Given the description of an element on the screen output the (x, y) to click on. 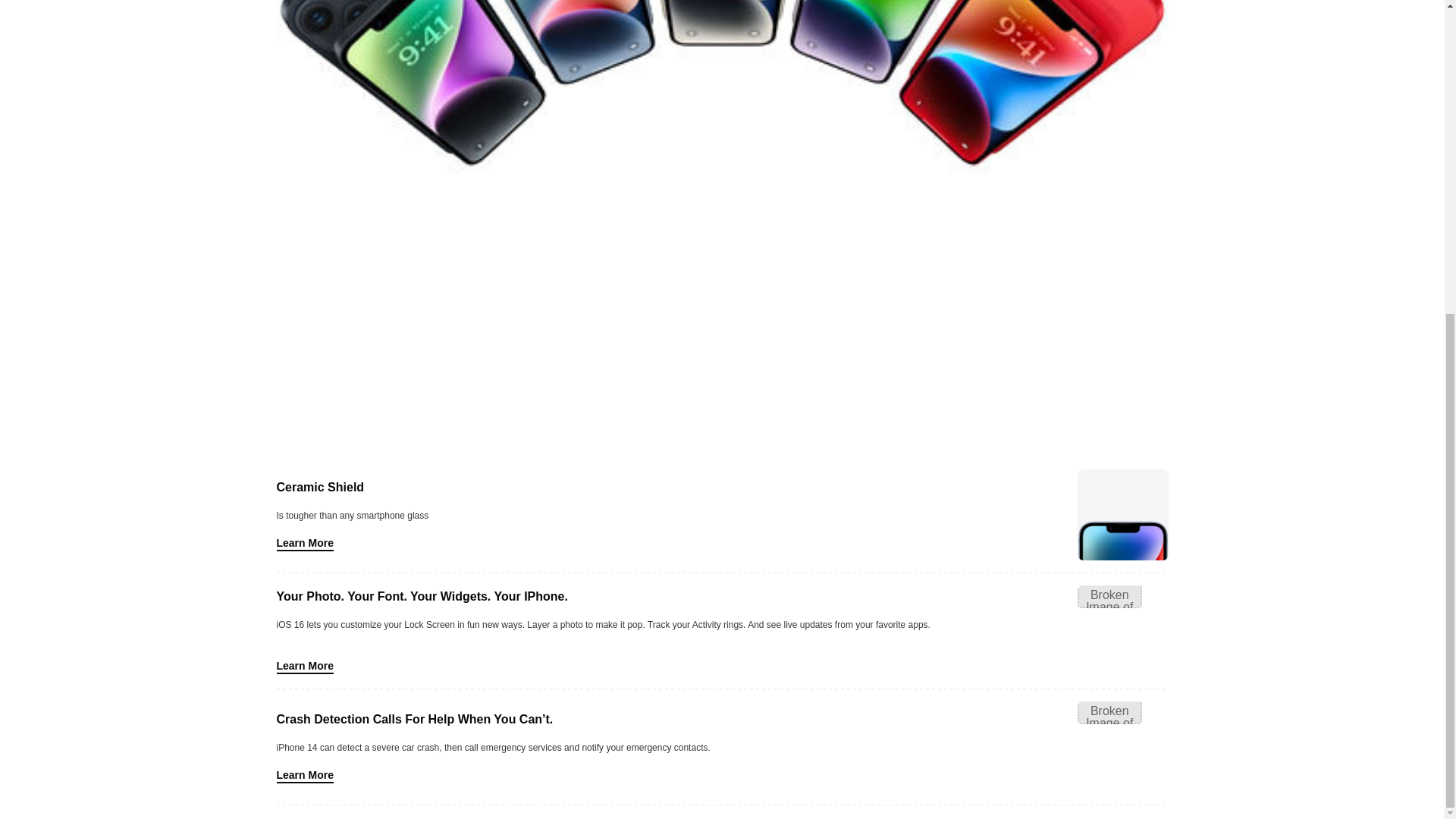
Learn More (304, 774)
Learn More (304, 542)
Learn More (304, 665)
